Given the description of an element on the screen output the (x, y) to click on. 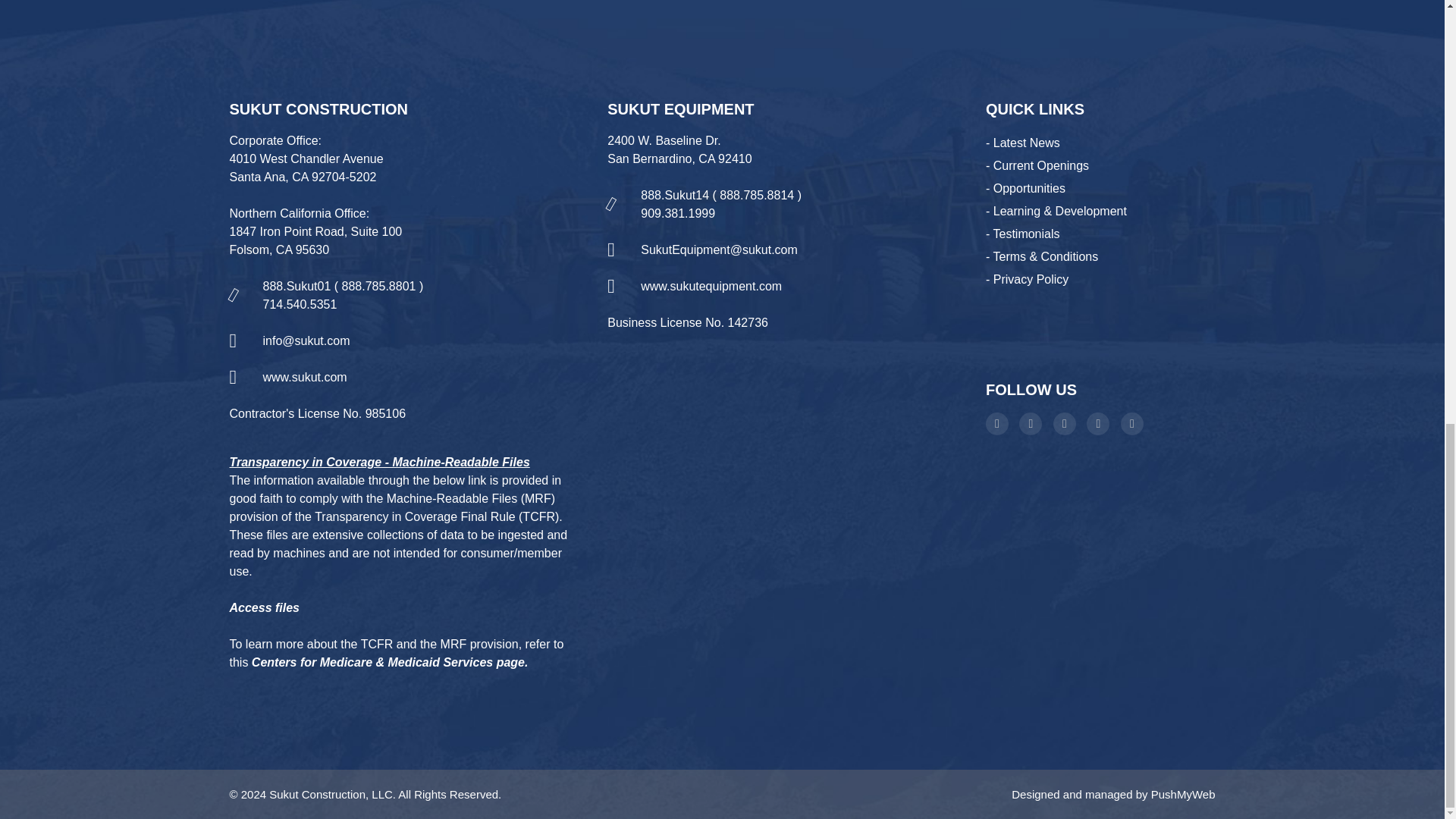
- Opportunities (1025, 187)
www.sukut.com (304, 377)
- Current Openings (1037, 164)
- Testimonials (1022, 233)
- Privacy Policy (1026, 278)
- Latest News (1022, 142)
Access files (263, 607)
www.sukutequipment.com (710, 286)
